Given the description of an element on the screen output the (x, y) to click on. 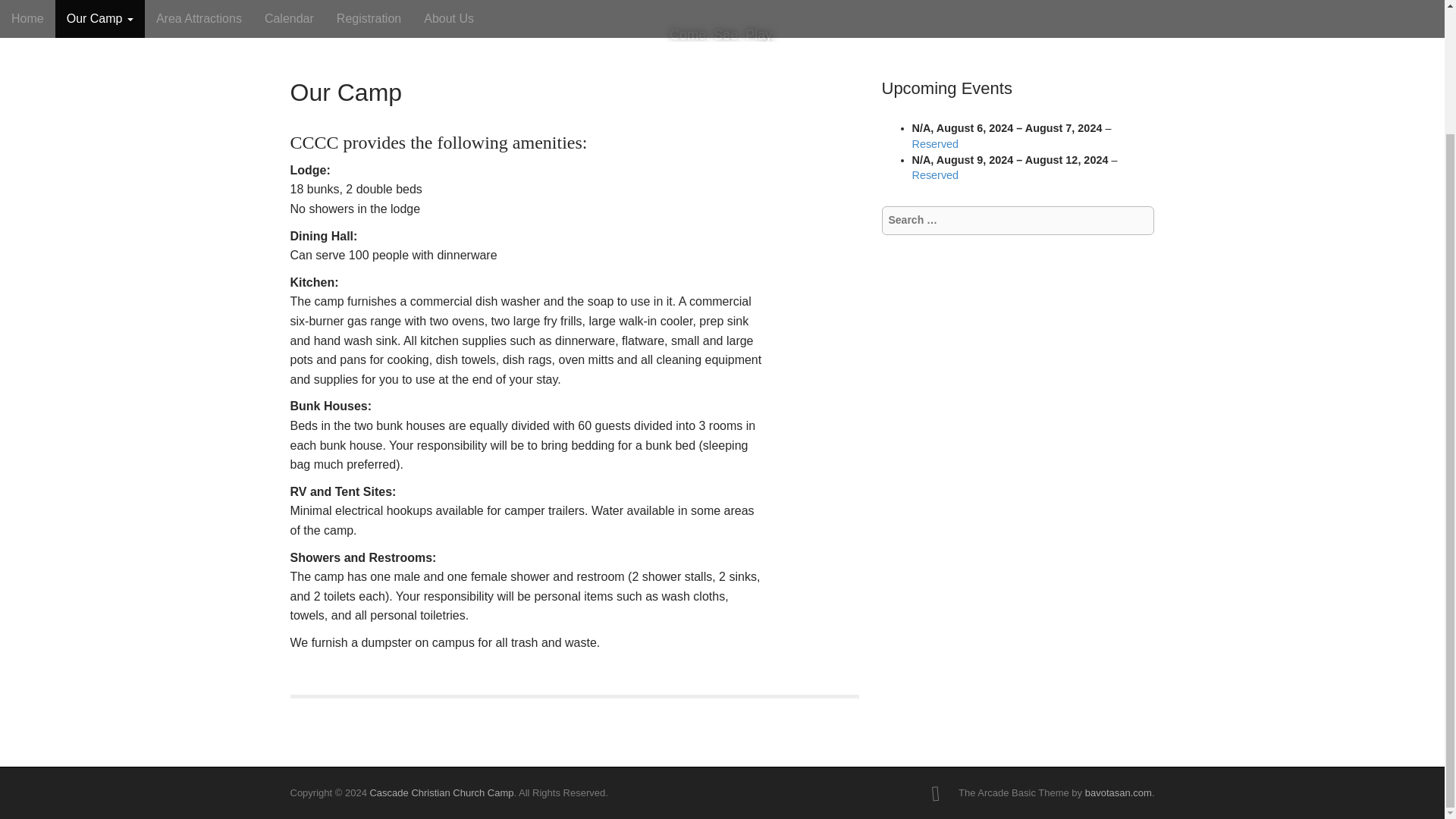
Reserved (934, 174)
bavotasan.com (1117, 792)
Reserved (934, 143)
Cascade Christian Church Camp (441, 792)
